Given the description of an element on the screen output the (x, y) to click on. 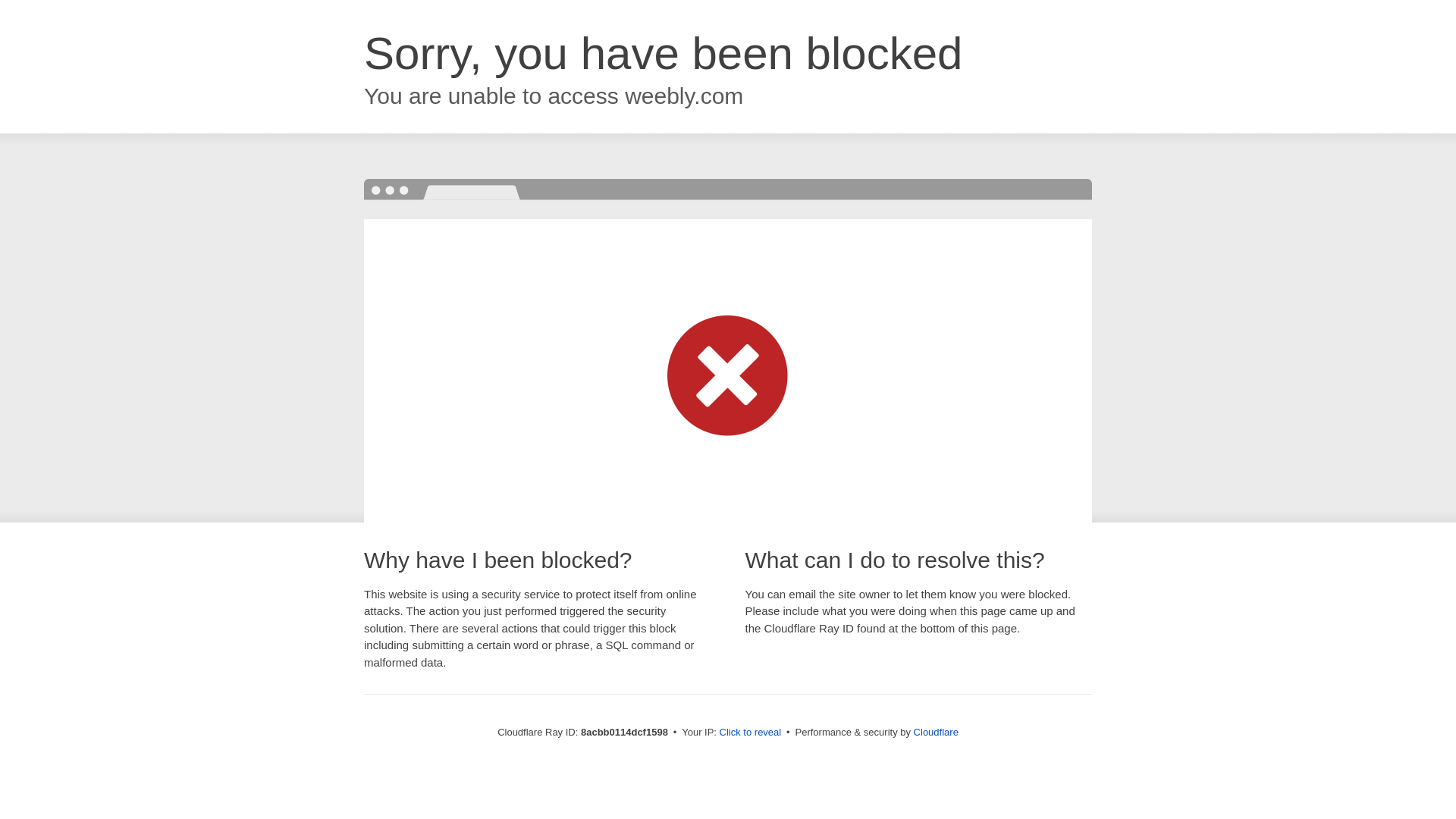
Click to reveal (750, 732)
Cloudflare (936, 731)
